Given the description of an element on the screen output the (x, y) to click on. 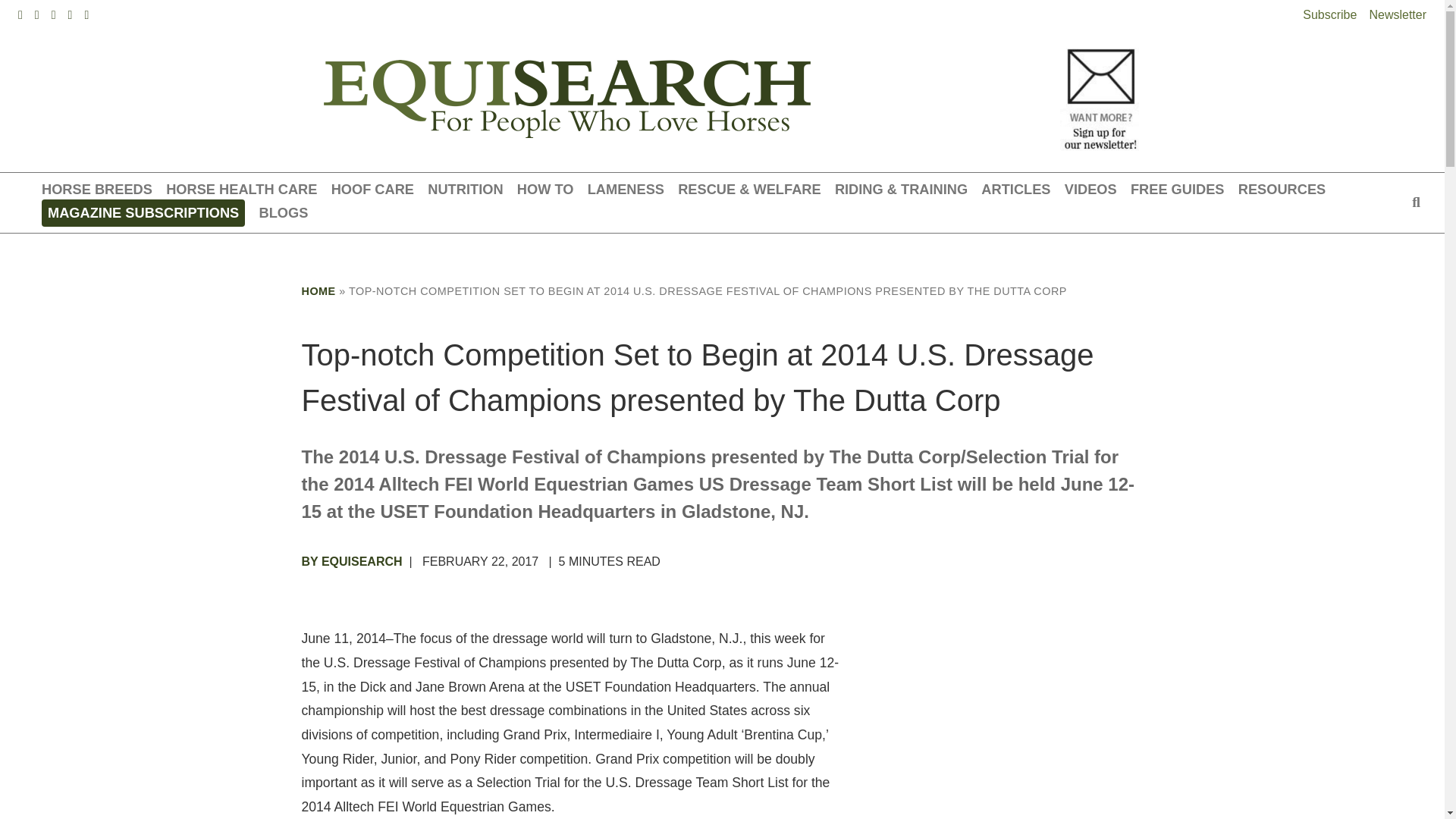
Newsletter (1397, 14)
HORSE HEALTH CARE (241, 189)
LAMENESS (625, 189)
NUTRITION (465, 189)
HOW TO (544, 189)
HOOF CARE (372, 189)
HORSE BREEDS (97, 189)
Subscribe (1329, 14)
